Given the description of an element on the screen output the (x, y) to click on. 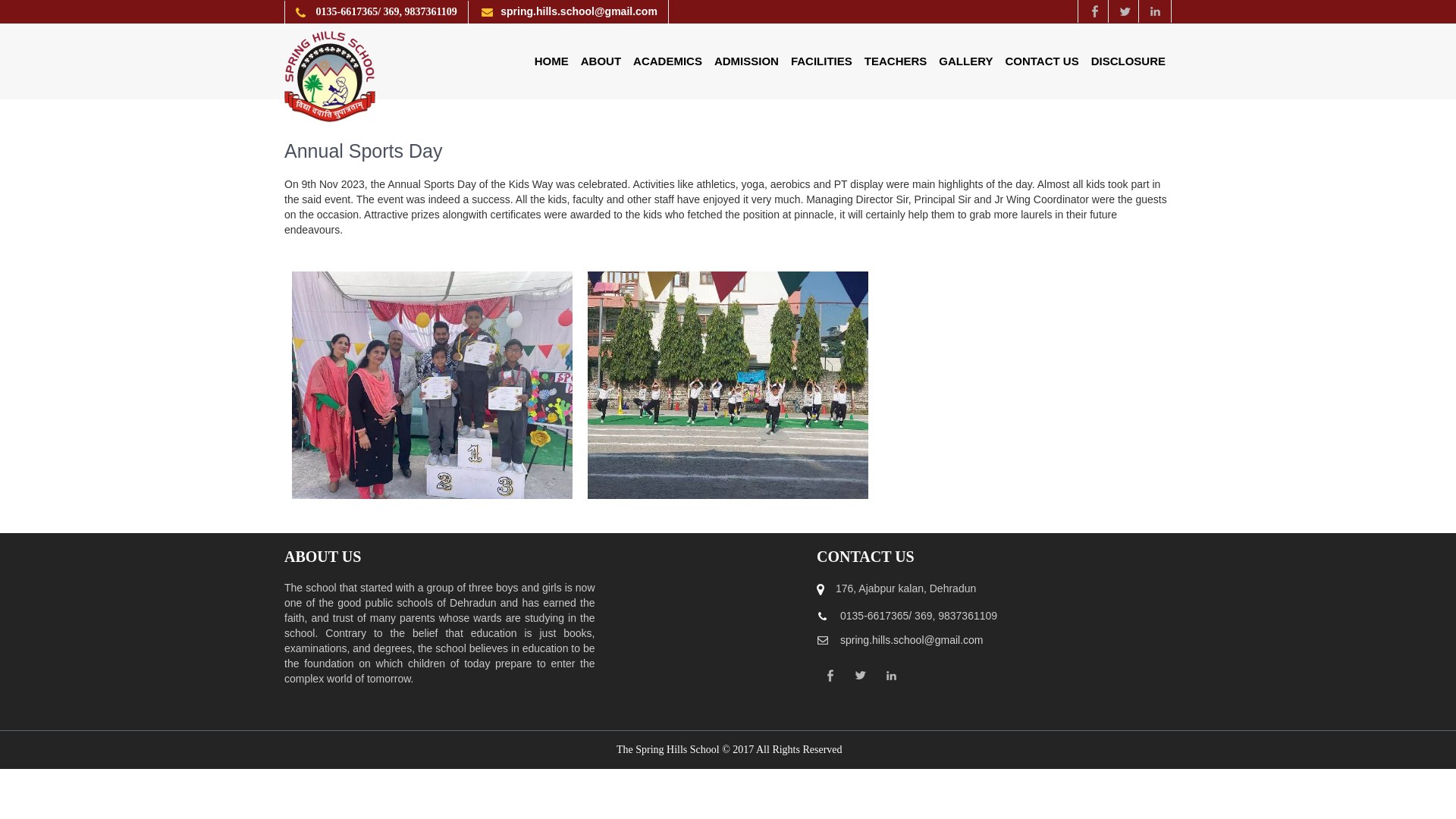
ADMISSION (745, 61)
twitter (1124, 11)
facebook (830, 675)
facebook (1093, 11)
ACADEMICS (667, 61)
CONTACT US (1041, 61)
twitter (860, 675)
DISCLOSURE (1128, 61)
TEACHERS (896, 61)
FACILITIES (821, 61)
linkedin (1155, 11)
linkedin (891, 675)
